Given the description of an element on the screen output the (x, y) to click on. 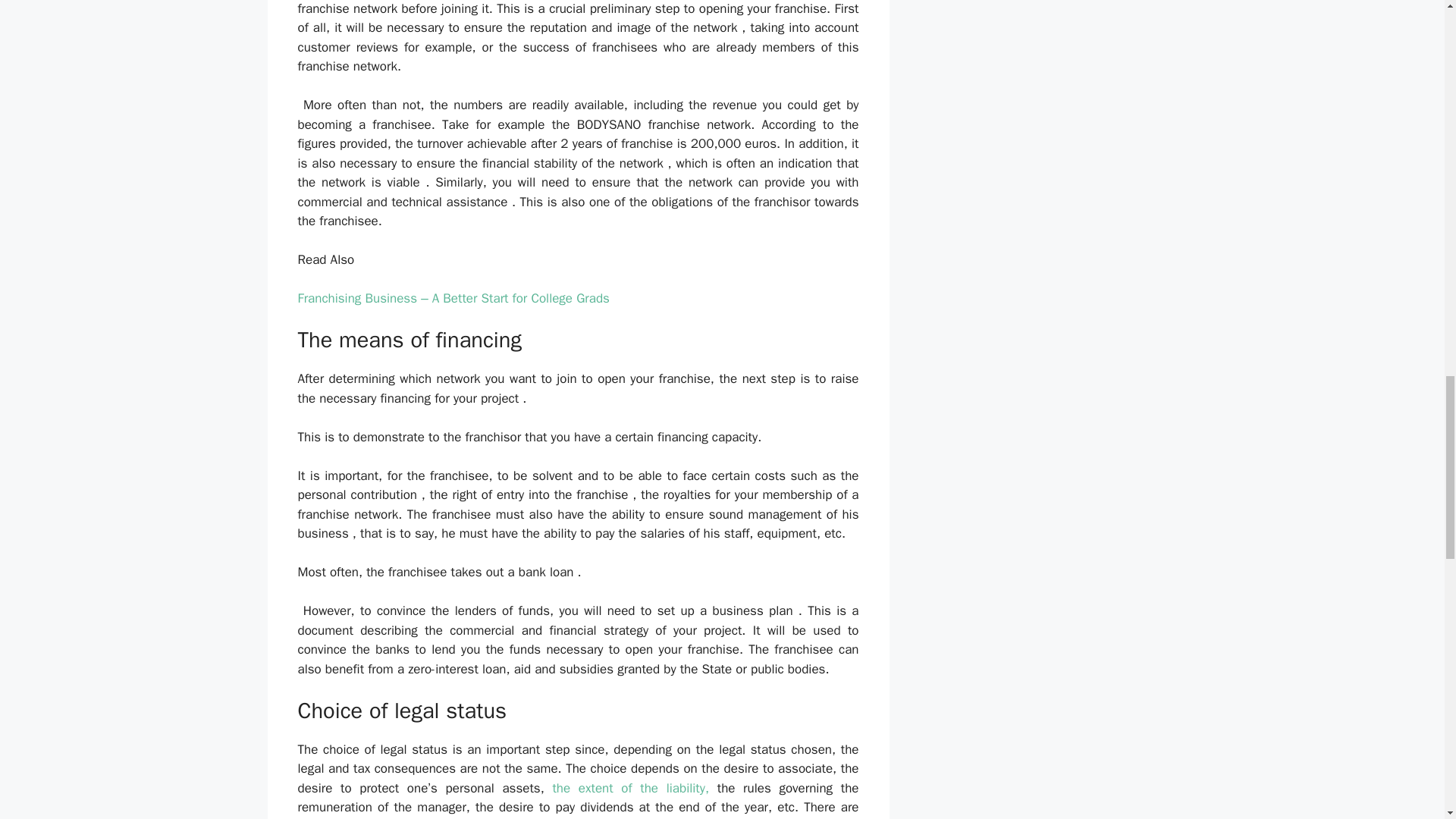
the extent of the liability, (630, 788)
